Given the description of an element on the screen output the (x, y) to click on. 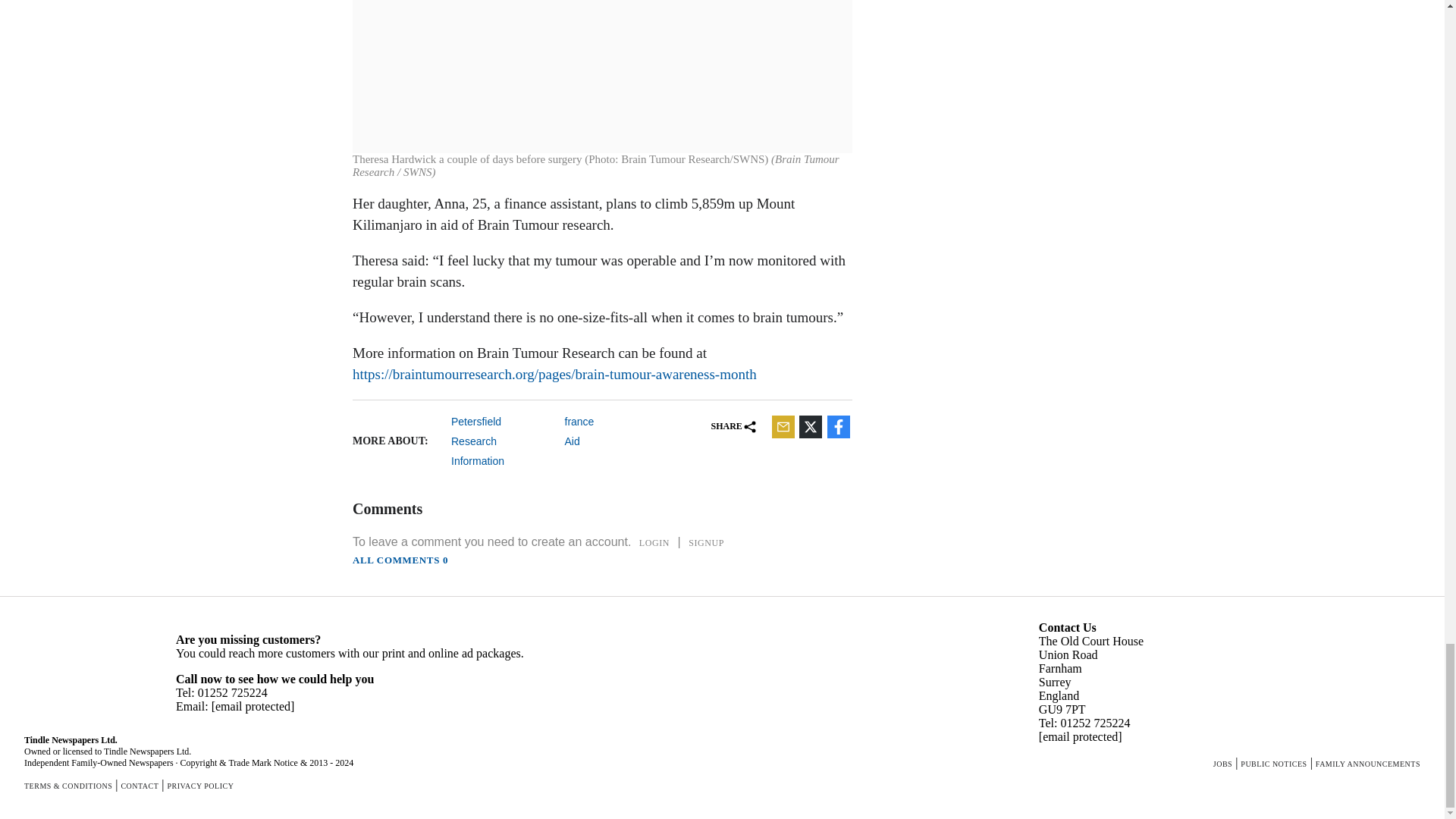
Research (502, 440)
LOGIN (654, 542)
france (615, 421)
Aid (615, 440)
Information (502, 460)
01252 725224 (232, 692)
Petersfield (502, 421)
SIGNUP (706, 542)
